Given the description of an element on the screen output the (x, y) to click on. 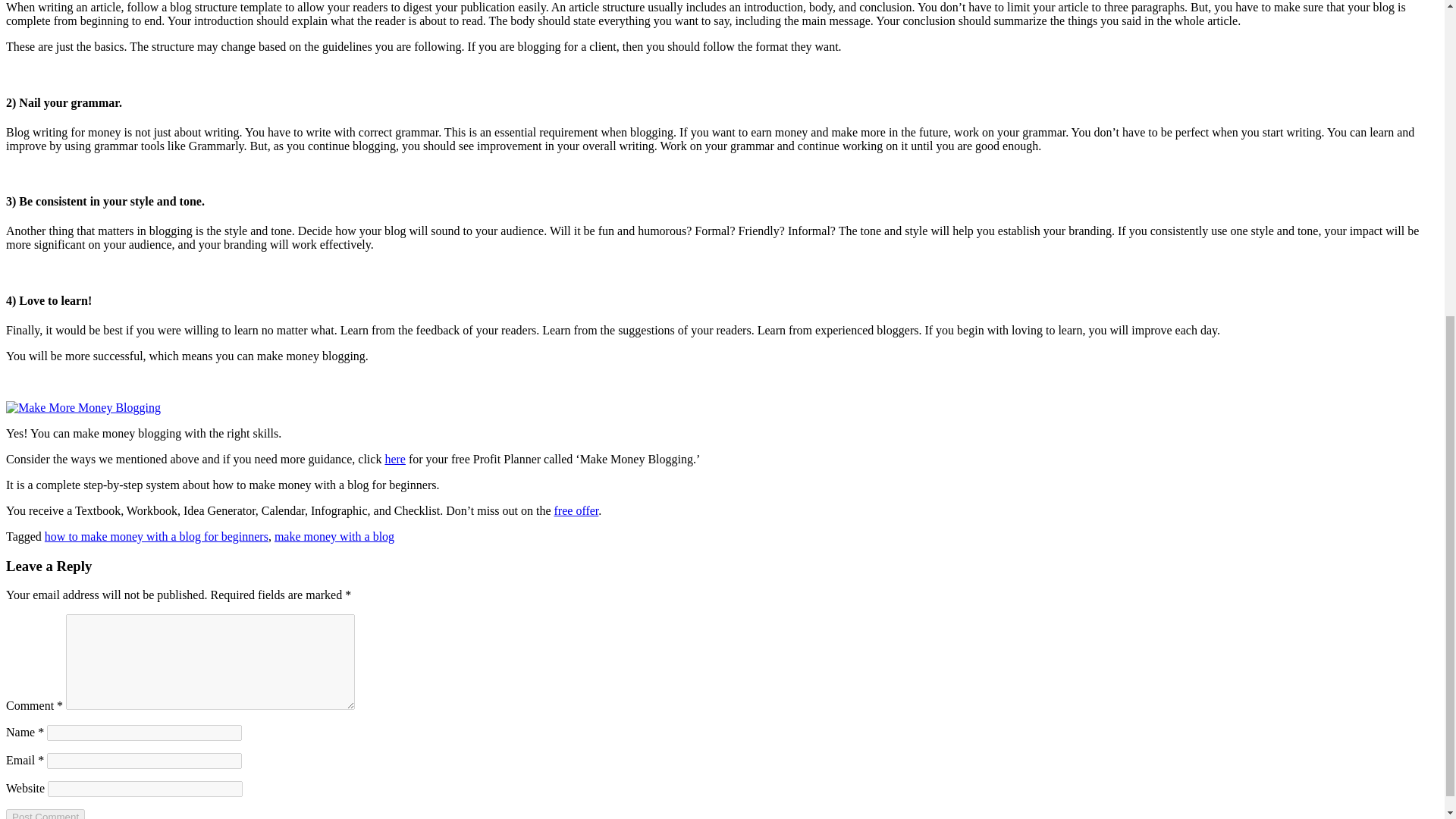
make money with a blog (334, 535)
how to make money with a blog for beginners (156, 535)
here (395, 459)
free offer (576, 510)
